Given the description of an element on the screen output the (x, y) to click on. 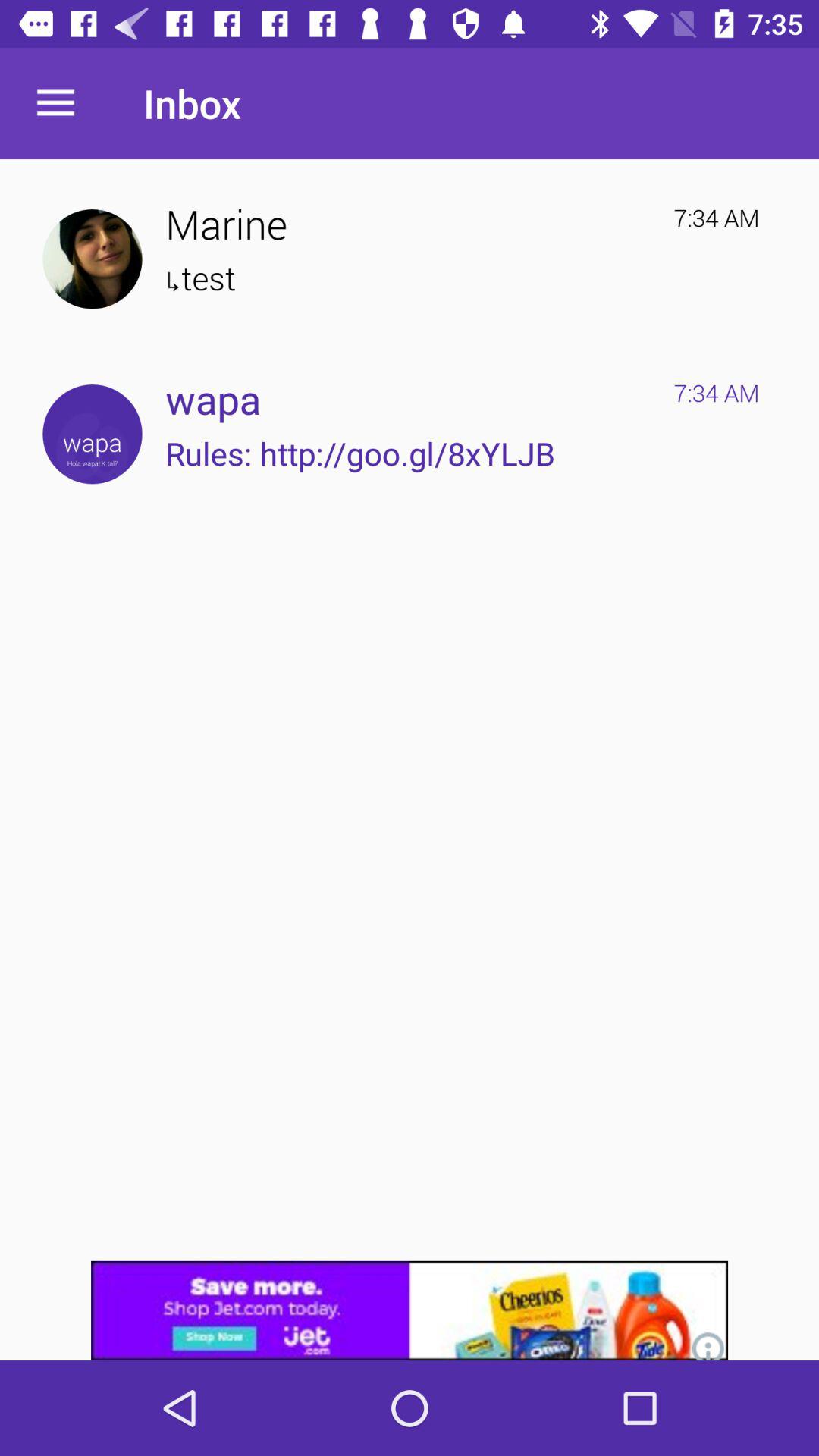
click discriiption (409, 1310)
